Given the description of an element on the screen output the (x, y) to click on. 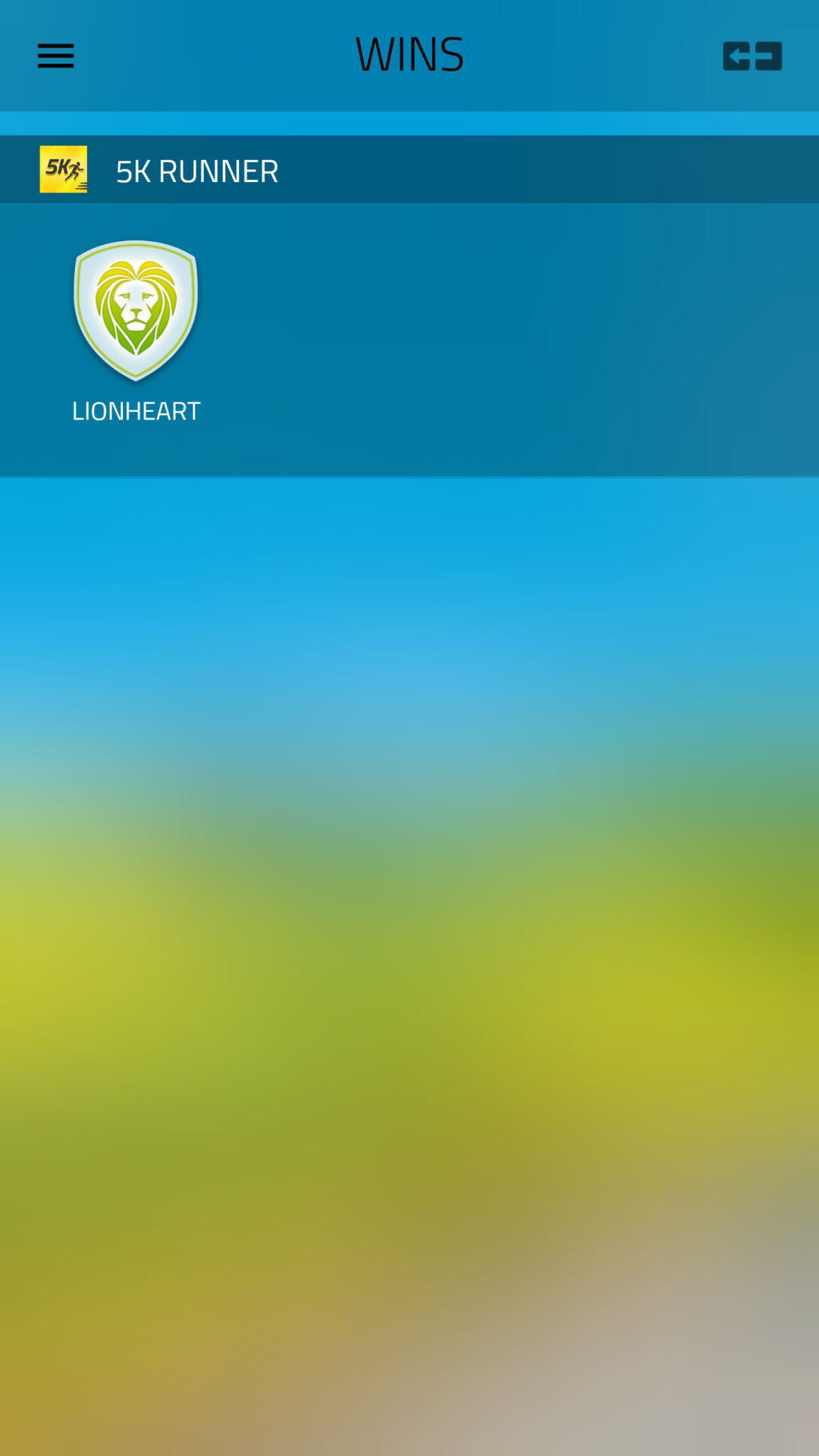
select icon above the lionheart
 icon (135, 309)
